Given the description of an element on the screen output the (x, y) to click on. 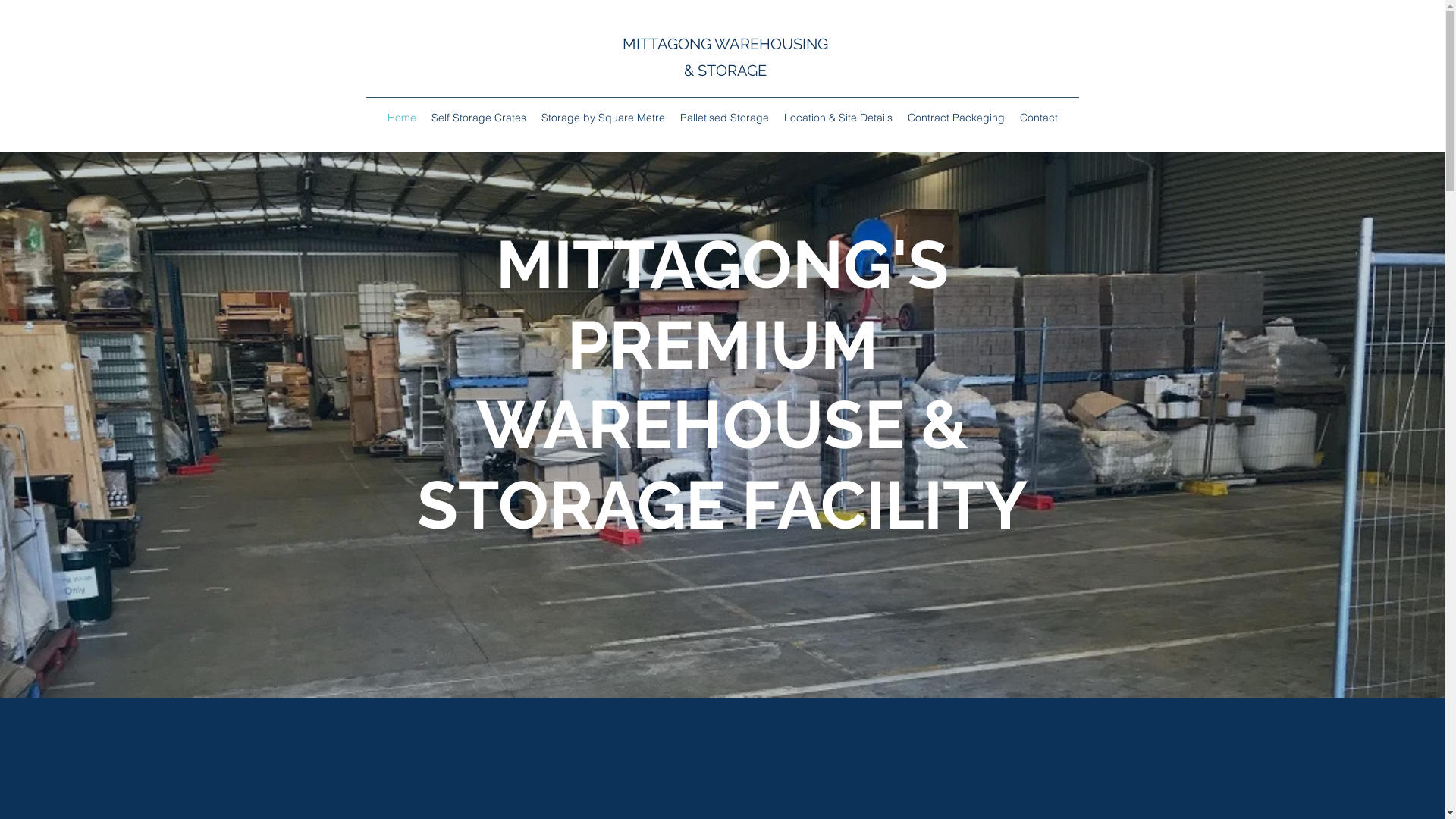
Self Storage Crates Element type: text (478, 117)
Storage by Square Metre Element type: text (602, 117)
Home Element type: text (401, 117)
Palletised Storage Element type: text (723, 117)
Location & Site Details Element type: text (838, 117)
Contact Element type: text (1037, 117)
Contract Packaging Element type: text (955, 117)
